Given the description of an element on the screen output the (x, y) to click on. 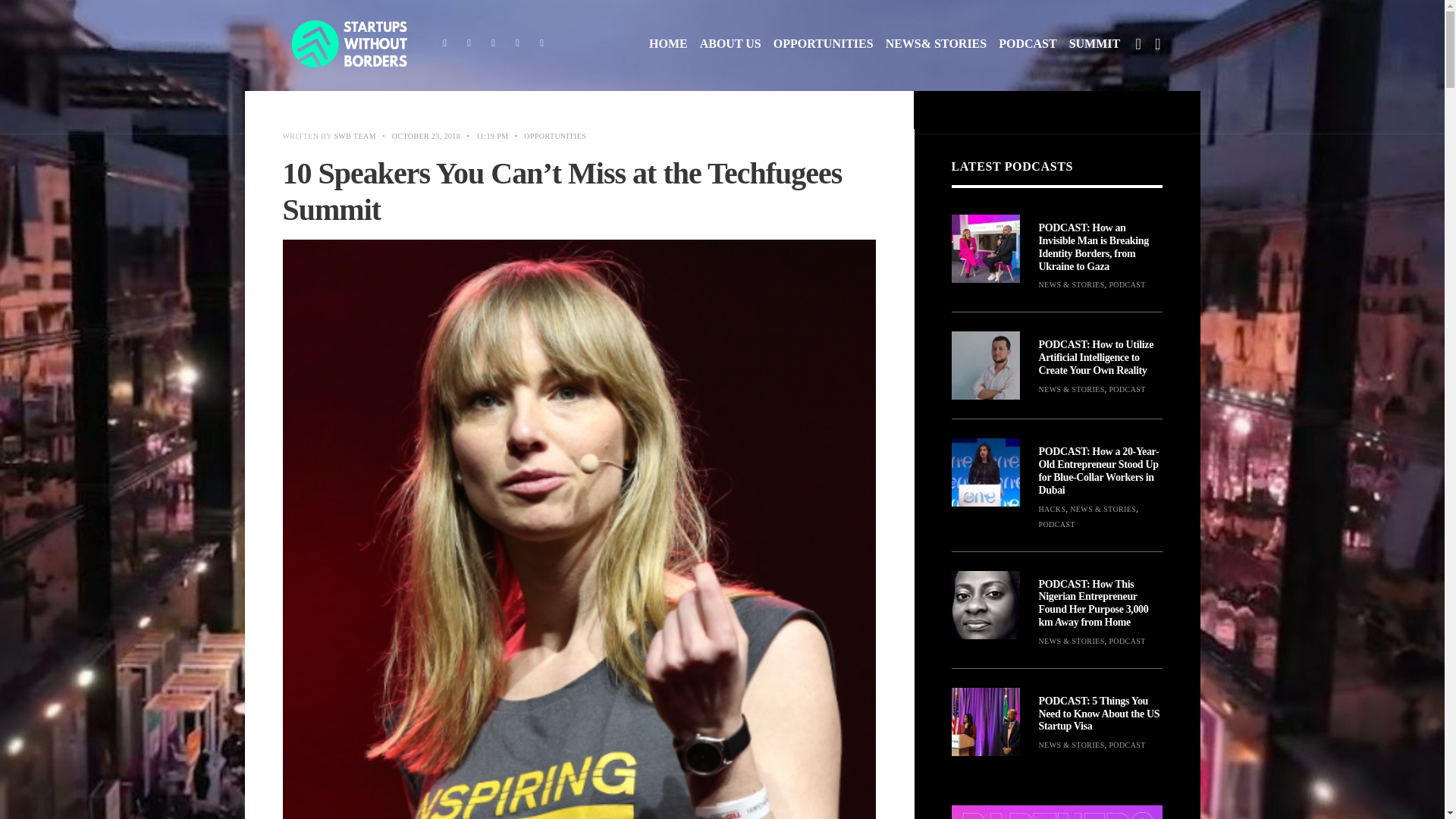
YouTube (516, 43)
HOME (668, 43)
OPPORTUNITIES (823, 43)
ABOUT US (730, 43)
SWB TEAM (354, 135)
LinkedIn (541, 43)
Twitter (468, 43)
Facebook (443, 43)
